Given the description of an element on the screen output the (x, y) to click on. 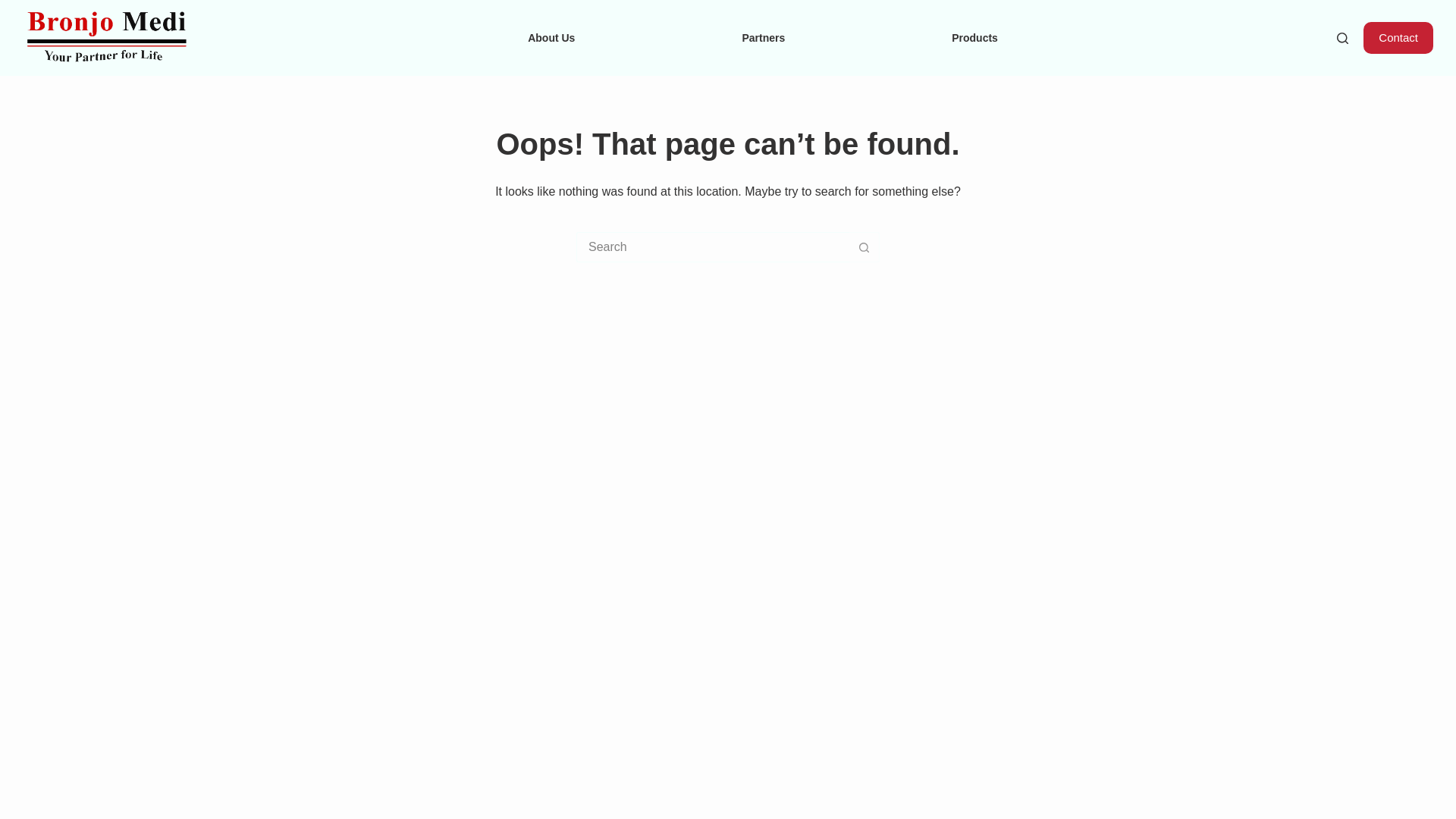
About Us (550, 37)
Products (974, 37)
Partners (762, 37)
Skip to content (15, 7)
Search for... (712, 246)
